Given the description of an element on the screen output the (x, y) to click on. 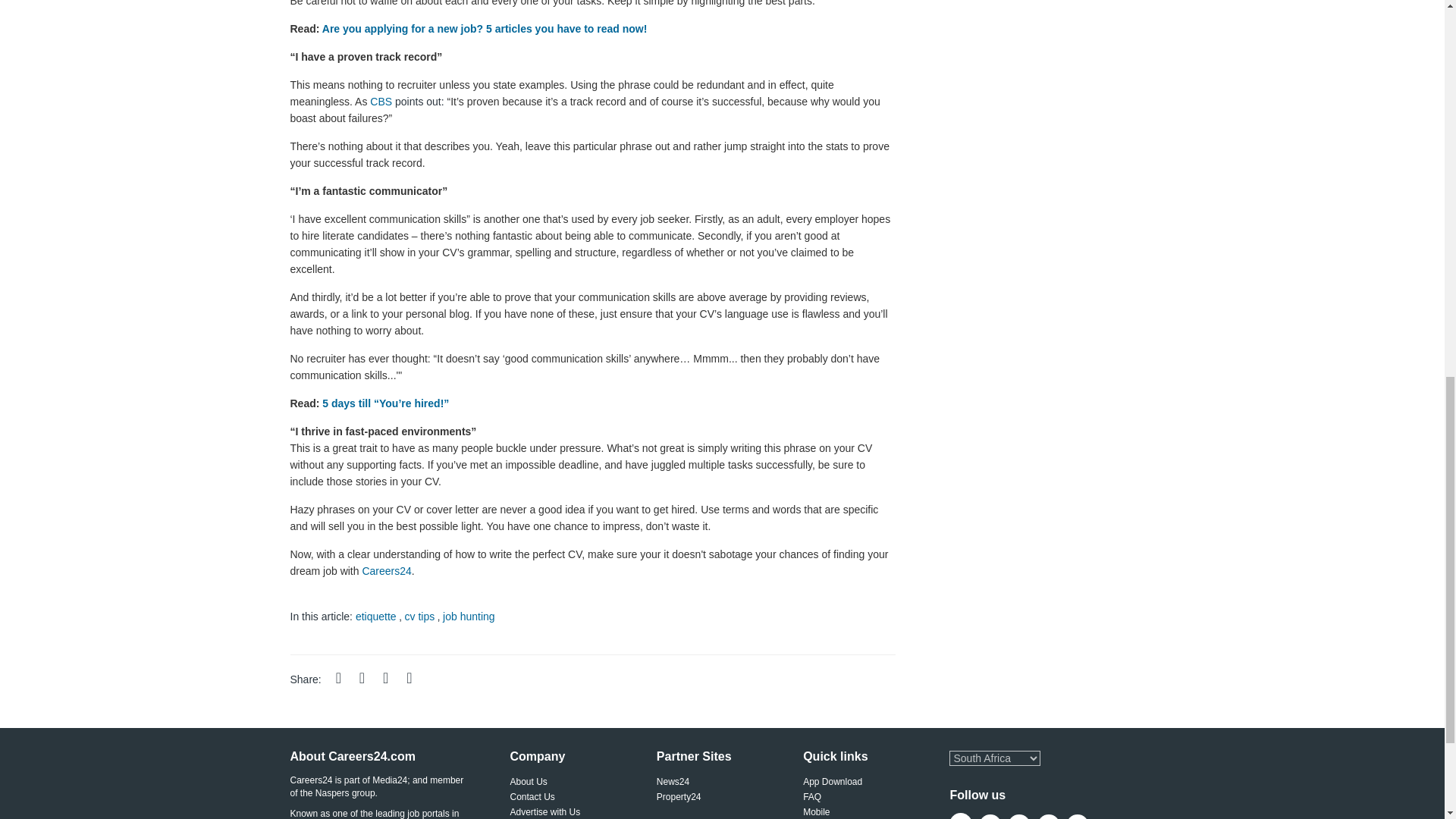
Share on LinkedIn (394, 679)
Share on Twitter (370, 679)
job hunting (468, 615)
CBS (380, 101)
etiquette (375, 615)
Share on Facebook (347, 679)
Careers24 (385, 570)
cv tips (419, 615)
